Given the description of an element on the screen output the (x, y) to click on. 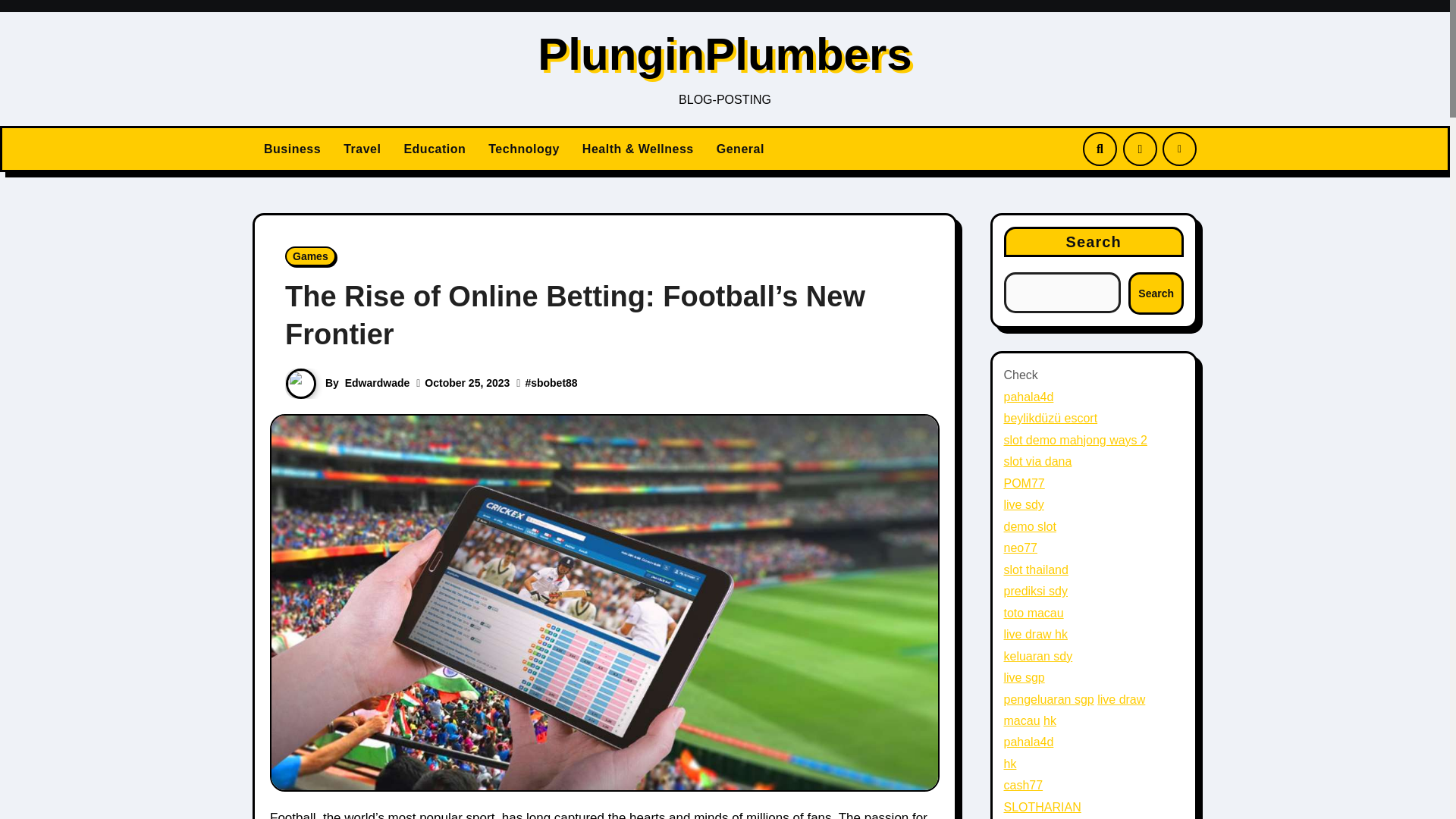
General (740, 149)
Business (291, 149)
October 25, 2023 (467, 382)
Education (434, 149)
Technology (523, 149)
Technology (523, 149)
Business (291, 149)
Education (434, 149)
sbobet88 (553, 382)
Travel (361, 149)
